Given the description of an element on the screen output the (x, y) to click on. 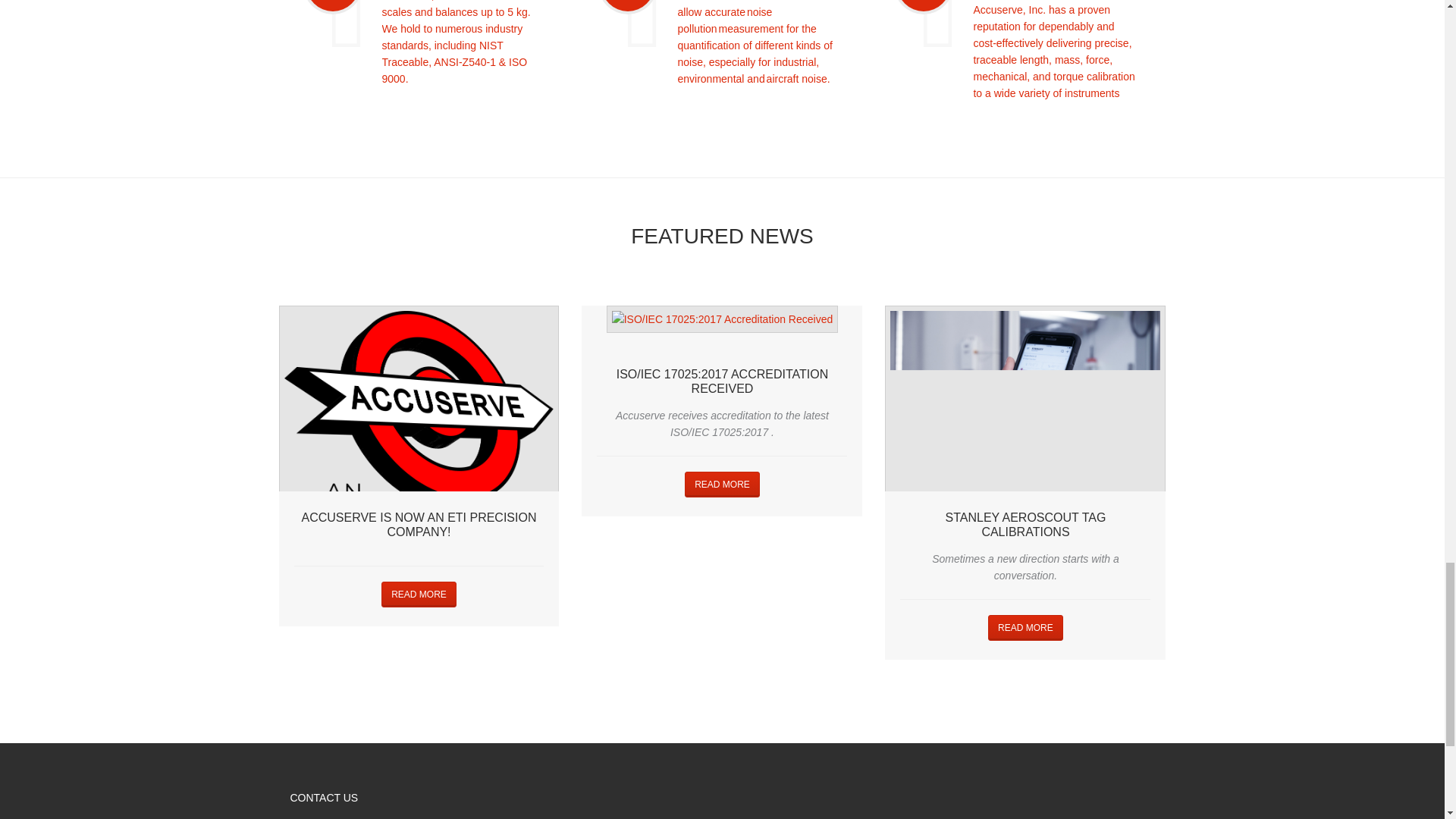
READ MORE (419, 594)
ACCUSERVE IS NOW AN ETI PRECISION COMPANY! (419, 524)
READ MORE (722, 484)
